Given the description of an element on the screen output the (x, y) to click on. 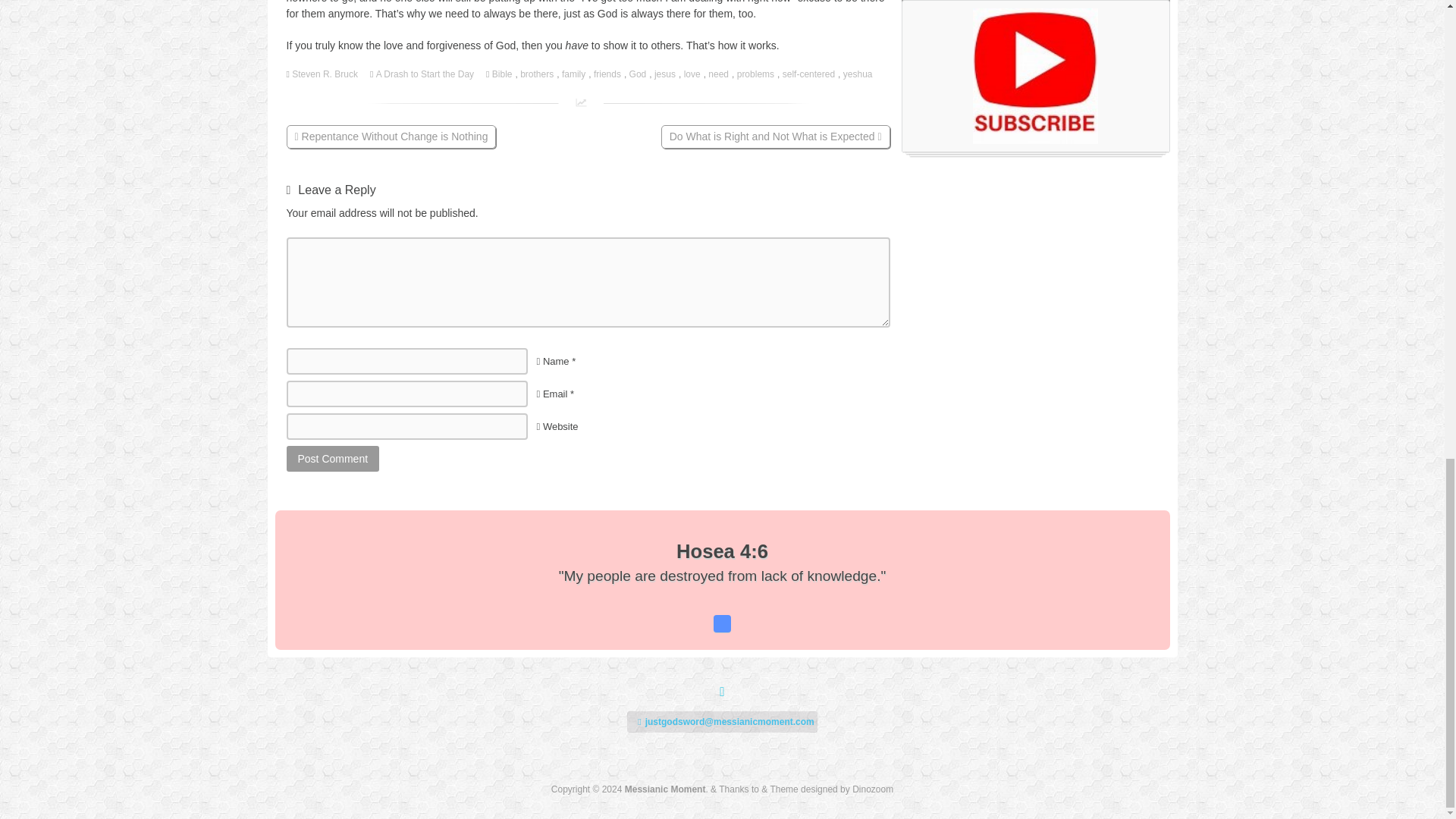
Post Comment (333, 458)
WordPress Themes (872, 788)
Messianic Moment (665, 788)
